Given the description of an element on the screen output the (x, y) to click on. 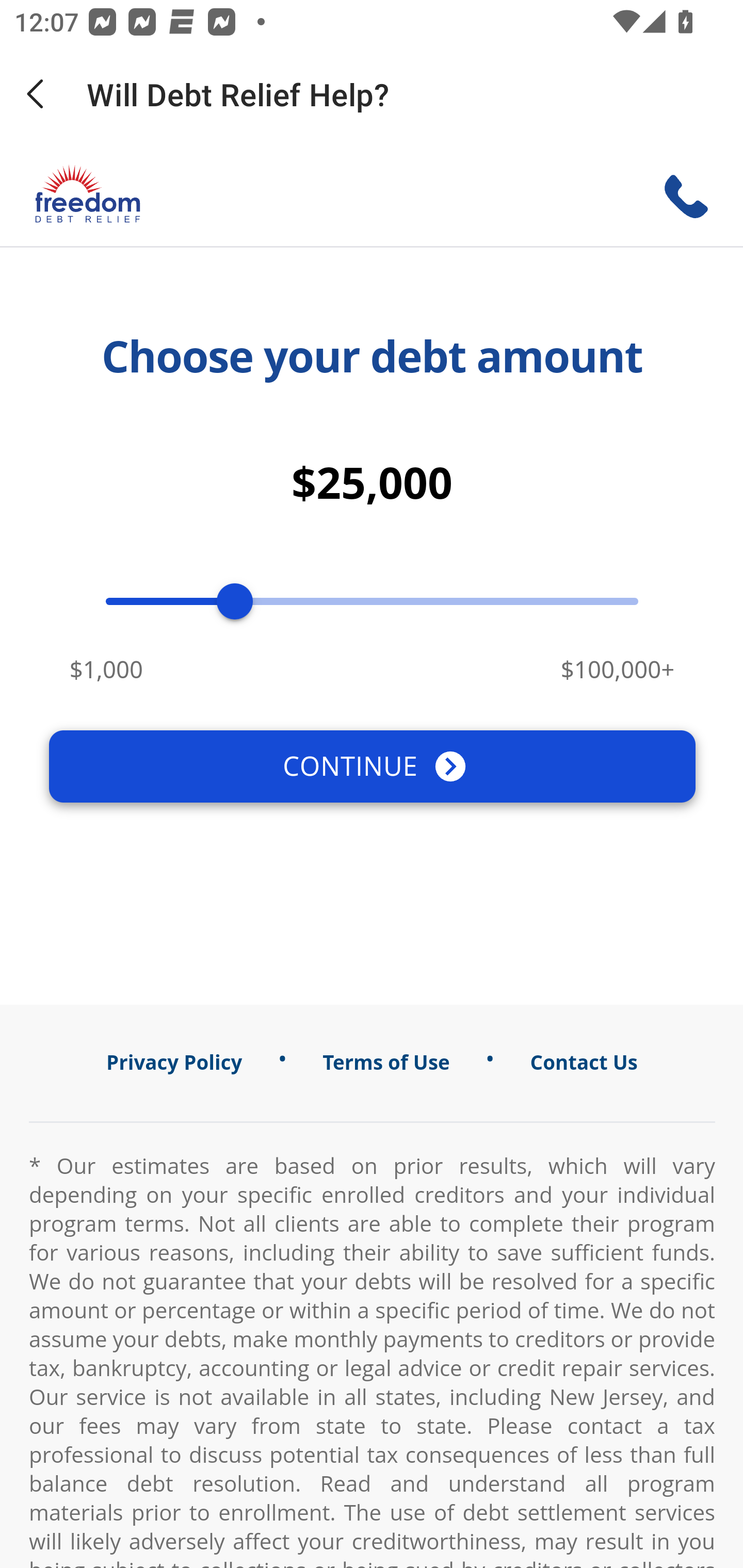
freedom_logo (87, 195)
phone-blue (690, 195)
$25,000 25000.0 $1,000 $100,000 + CONTINUE (371, 625)
25000.0 (235, 600)
CONTINUE (371, 765)
Privacy Policy (173, 1062)
Terms of Use (385, 1062)
Contact Us (583, 1062)
